Given the description of an element on the screen output the (x, y) to click on. 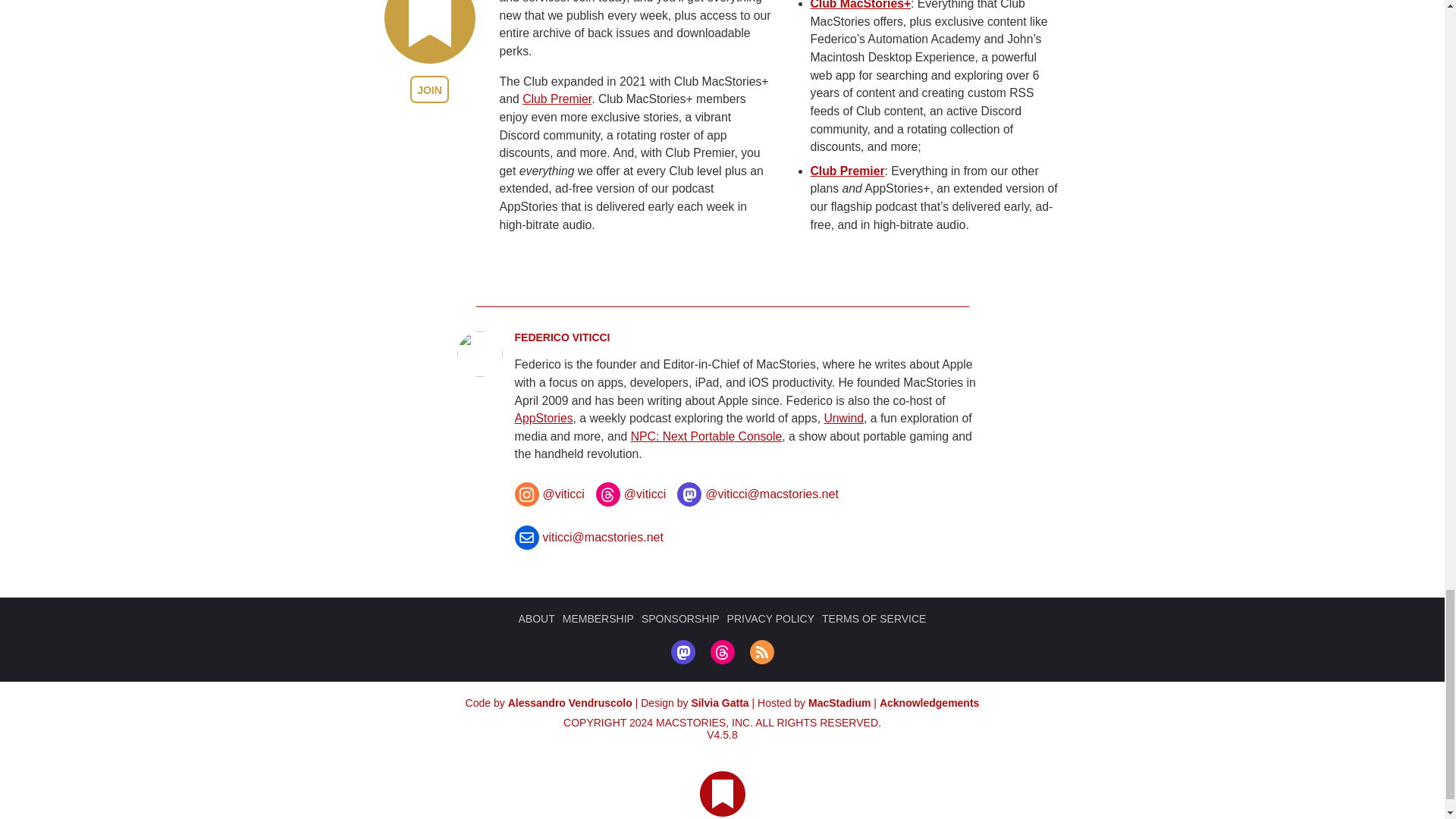
Posts by Federico Viticci (561, 372)
Club Premier (556, 133)
JOIN (429, 124)
